Given the description of an element on the screen output the (x, y) to click on. 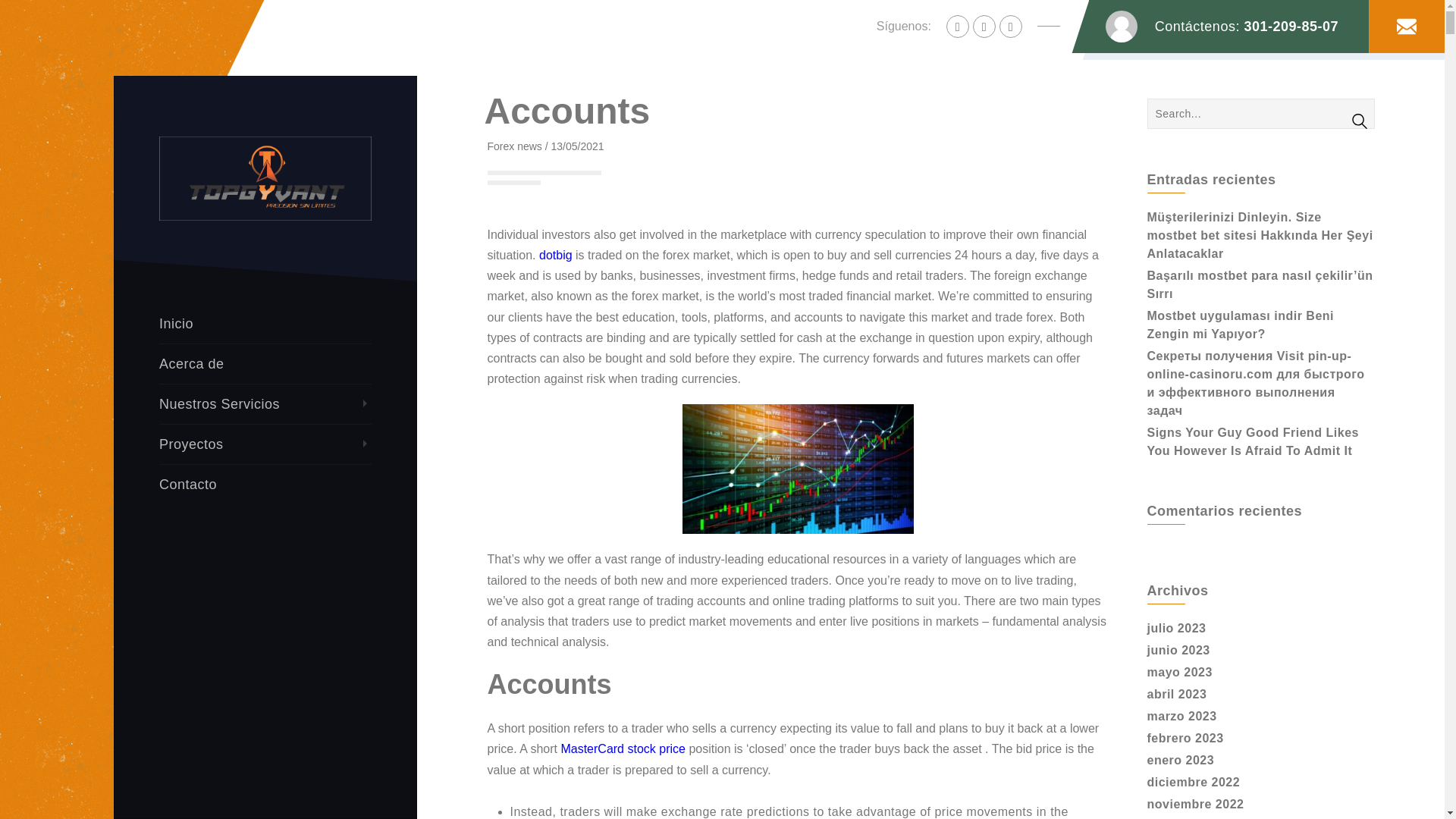
Contacto (264, 485)
Forex news (513, 146)
Search... (1260, 113)
Proyectos (264, 444)
Acerca de (264, 364)
Nuestros Servicios (264, 404)
Inicio (264, 323)
MasterCard stock price (622, 748)
dotbig (555, 254)
